Given the description of an element on the screen output the (x, y) to click on. 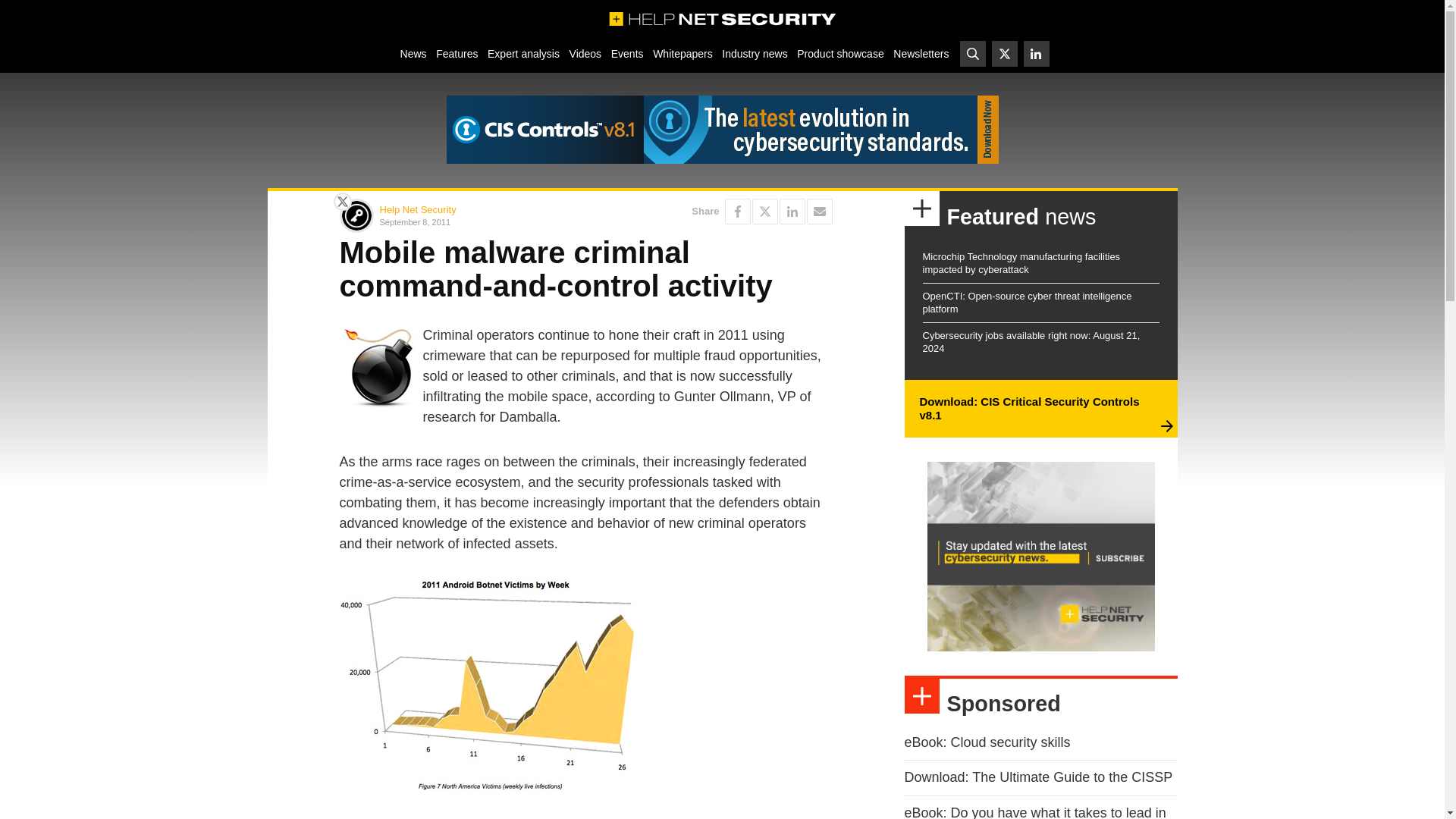
Cybersecurity jobs available right now: August 21, 2024 (1030, 341)
Videos (584, 53)
Help Net Security (416, 209)
eBook: Cloud security skills (987, 742)
Whitepapers (682, 53)
eBook: Do you have what it takes to lead in cybersecurity? (1035, 812)
Newsletters (920, 53)
